Given the description of an element on the screen output the (x, y) to click on. 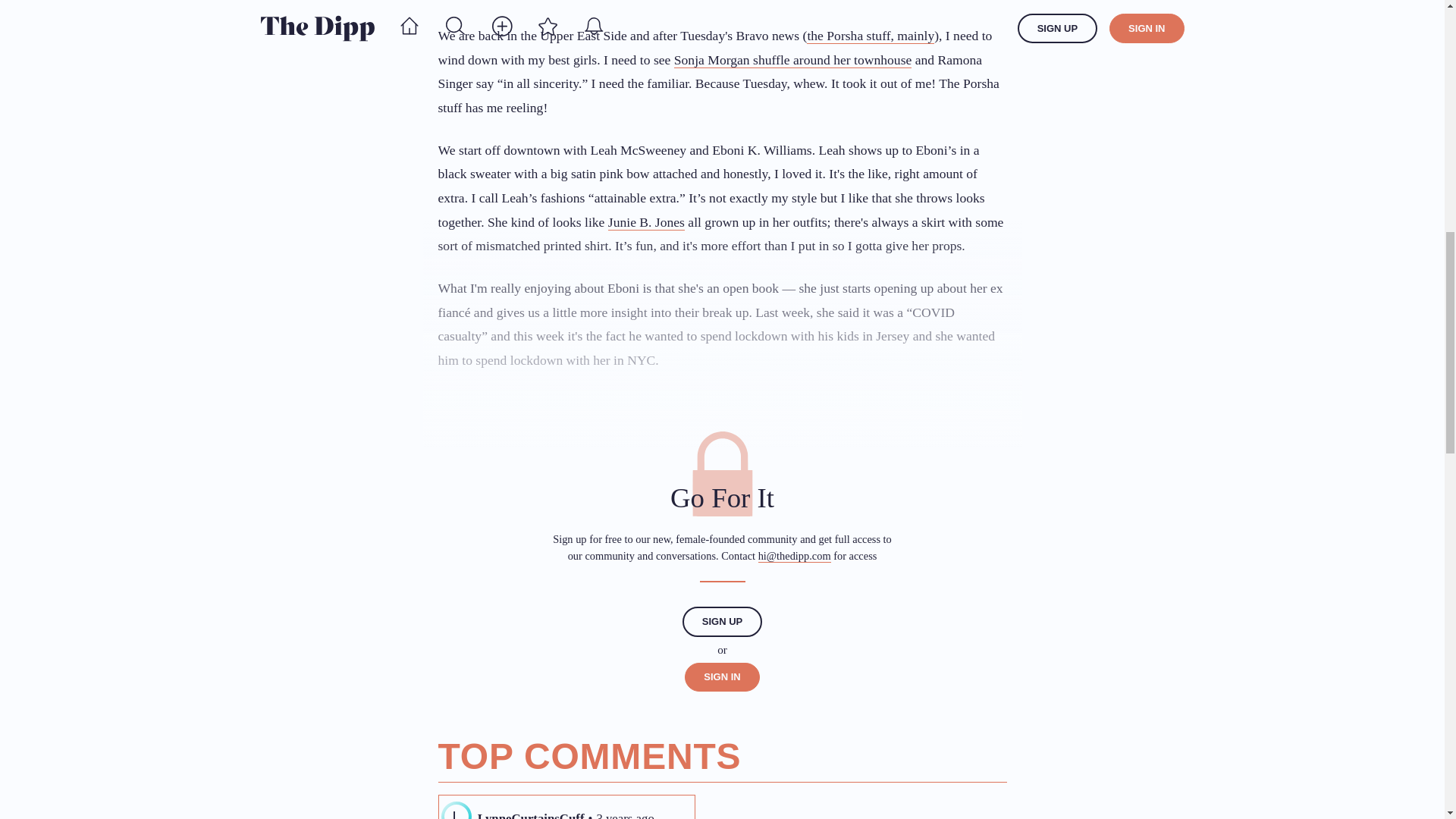
Junie B. Jones (646, 222)
L (456, 811)
the Porsha stuff, mainly (870, 35)
Sonja Morgan shuffle around her townhouse (793, 59)
3 years ago (624, 813)
SIGN UP (721, 621)
SIGN IN (721, 676)
LynneCurtainsCuff (531, 813)
